Given the description of an element on the screen output the (x, y) to click on. 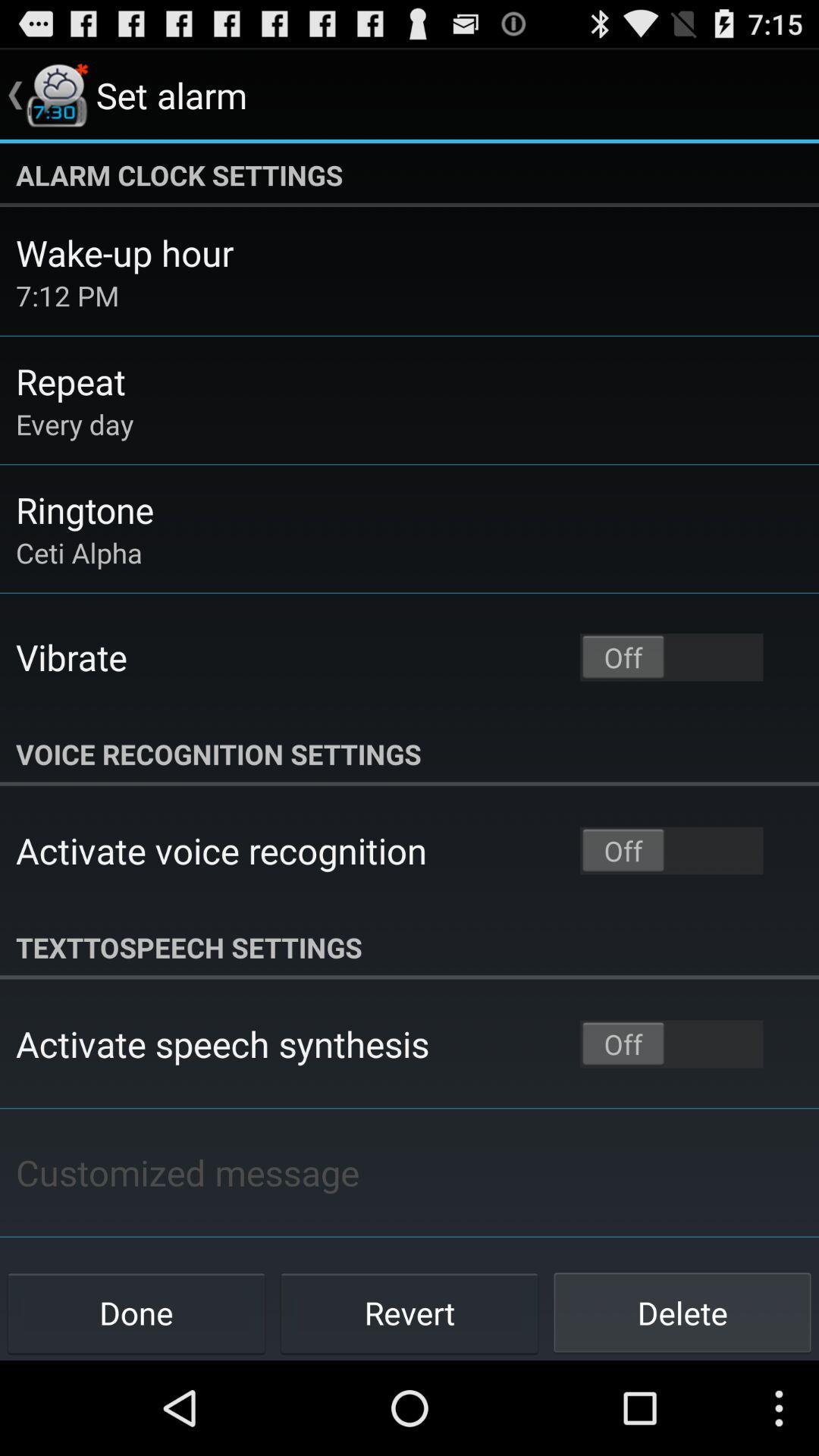
open the icon next to revert item (136, 1312)
